Given the description of an element on the screen output the (x, y) to click on. 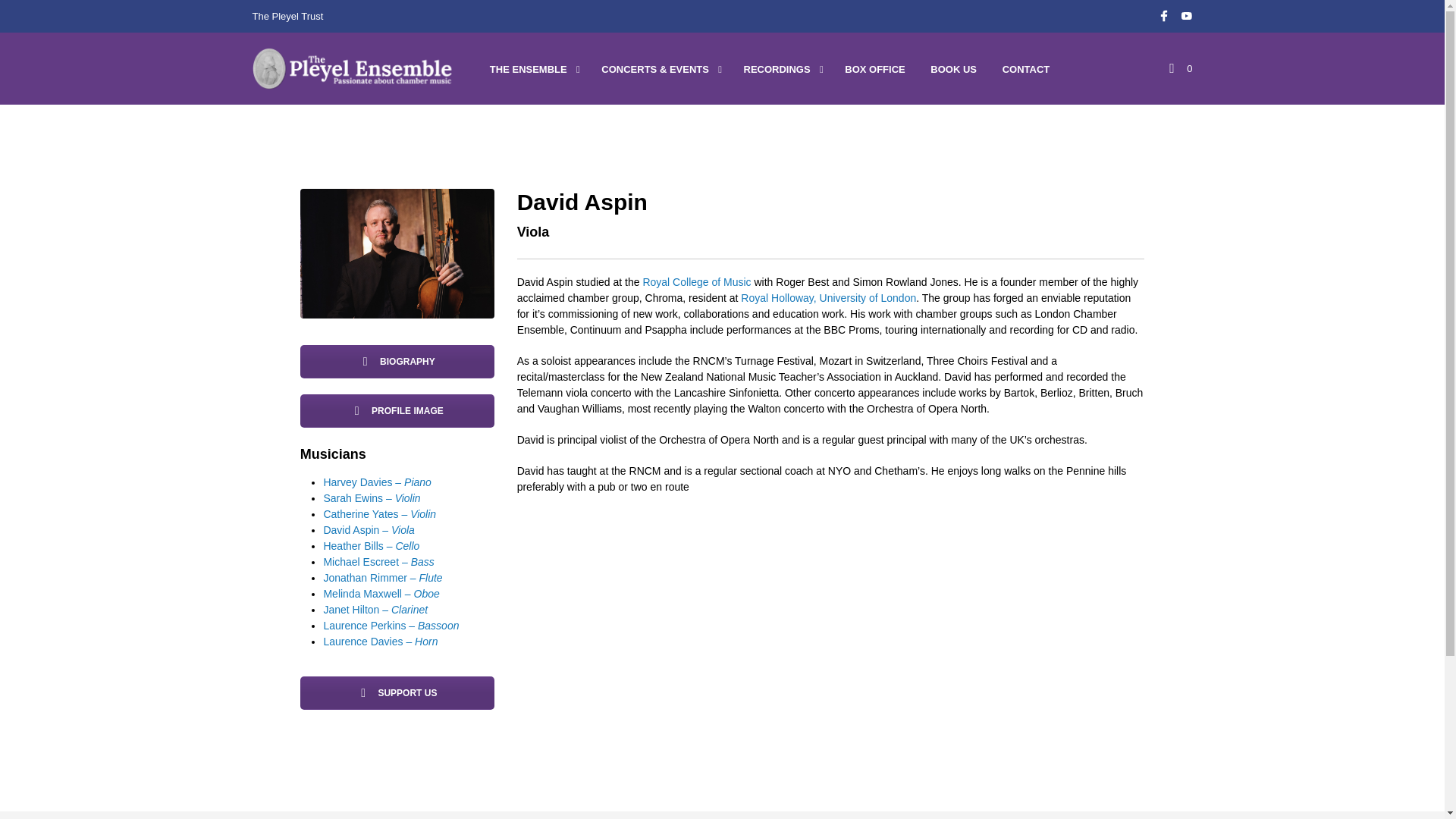
The Pleyel Trust (397, 693)
The Pleyel Trust (287, 16)
THE ENSEMBLE (528, 69)
